Given the description of an element on the screen output the (x, y) to click on. 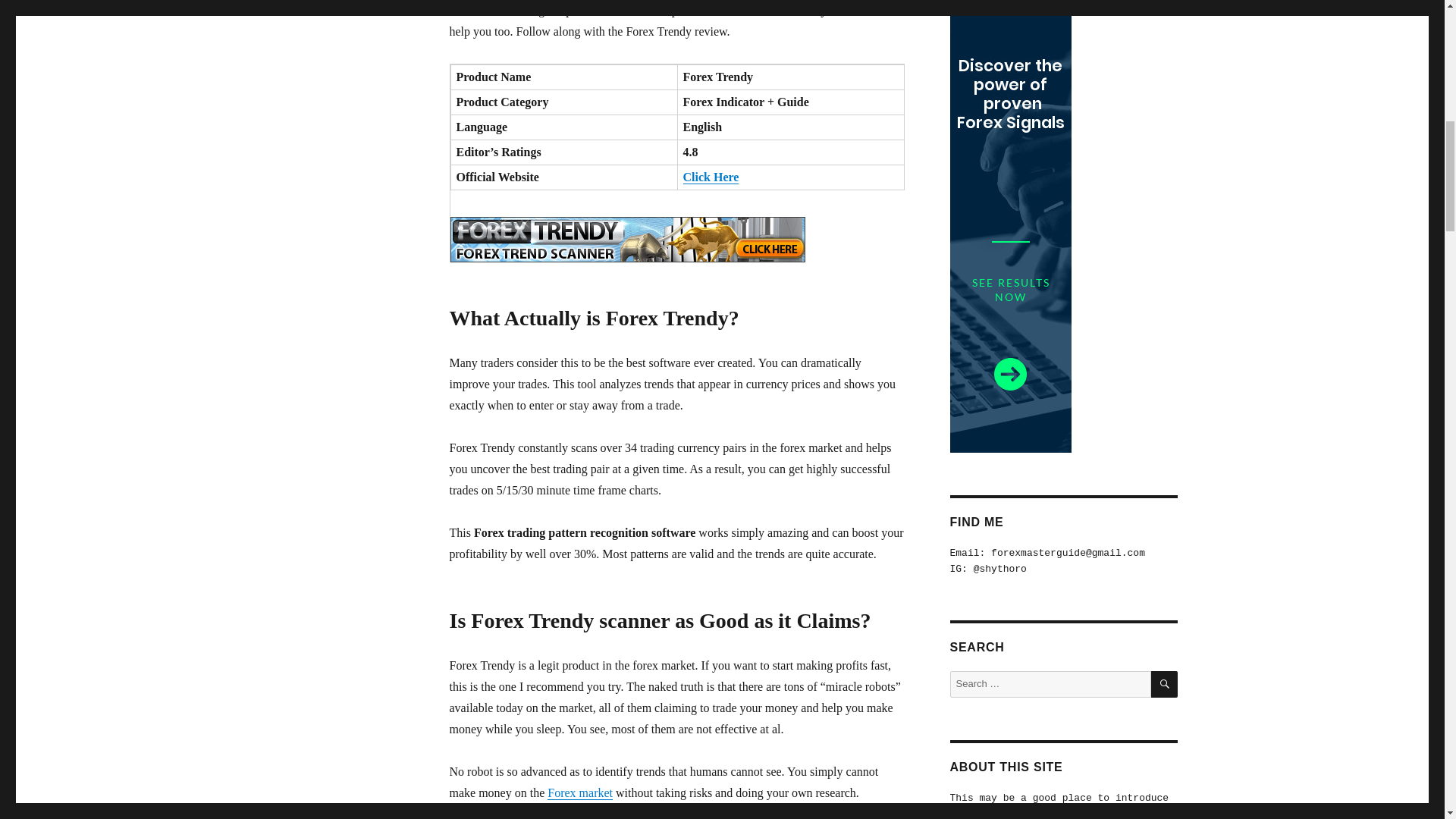
Click Here (710, 176)
SEARCH (1164, 683)
Forex market (579, 792)
